Given the description of an element on the screen output the (x, y) to click on. 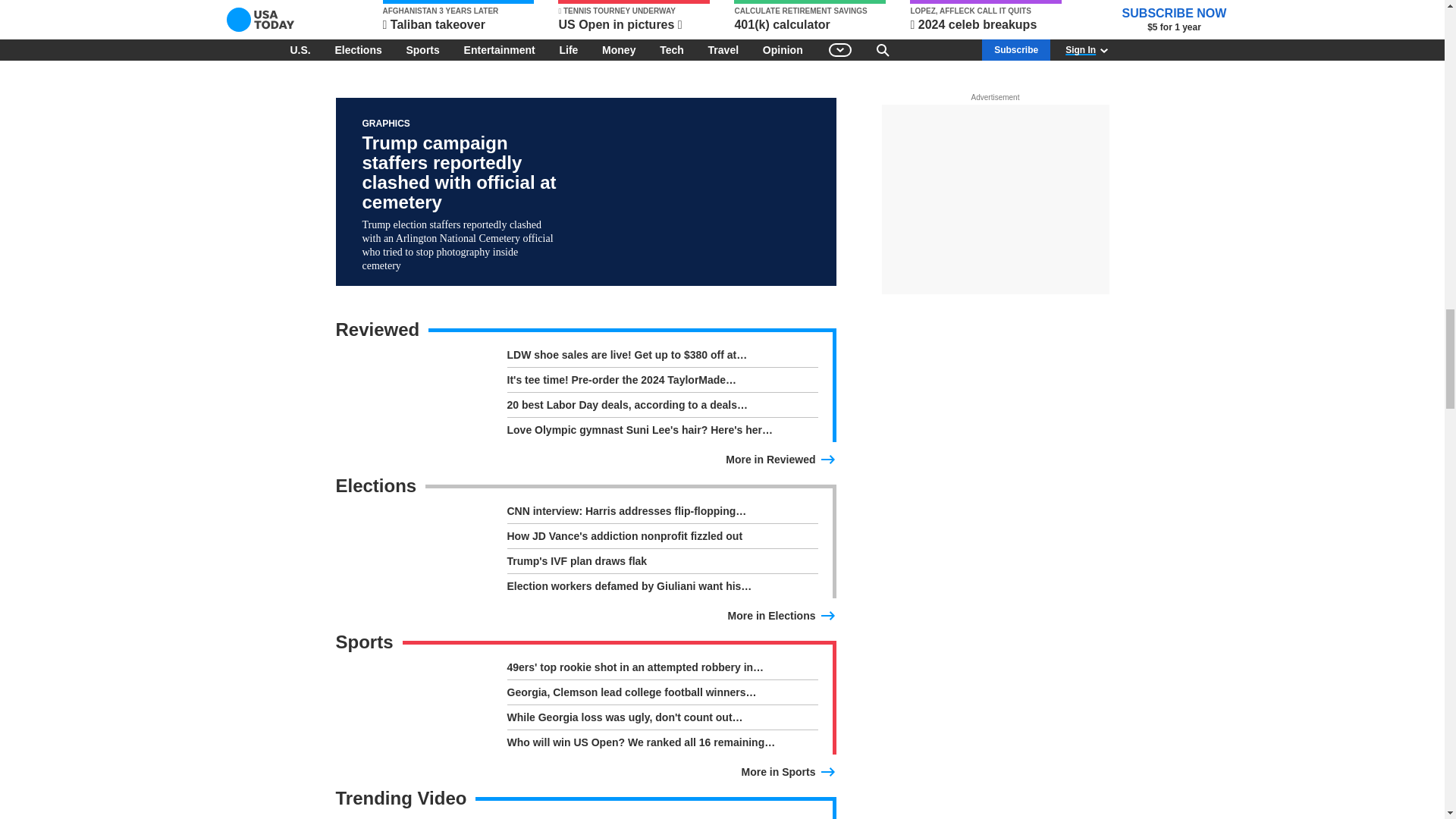
20 best Labor Day deals, according to a deals editor (661, 407)
CNN interview: Harris addresses flip-flopping, Trump attacks (661, 514)
Love Olympic gymnast Suni Lee's hair? Here's her secret (661, 429)
Who will win US Open? We ranked all 16 remaining men (661, 742)
